Given the description of an element on the screen output the (x, y) to click on. 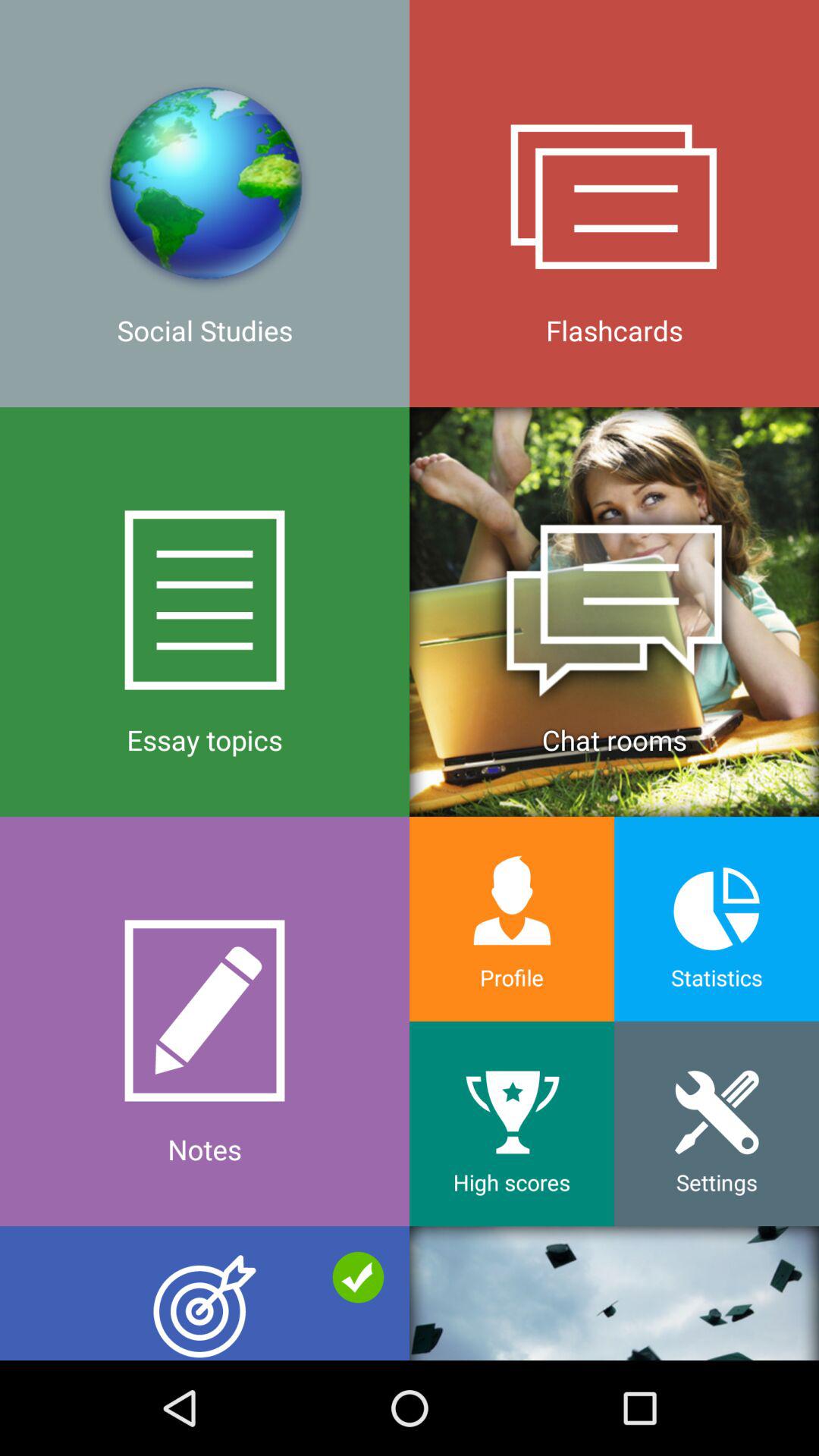
scroll until profile app (511, 918)
